Given the description of an element on the screen output the (x, y) to click on. 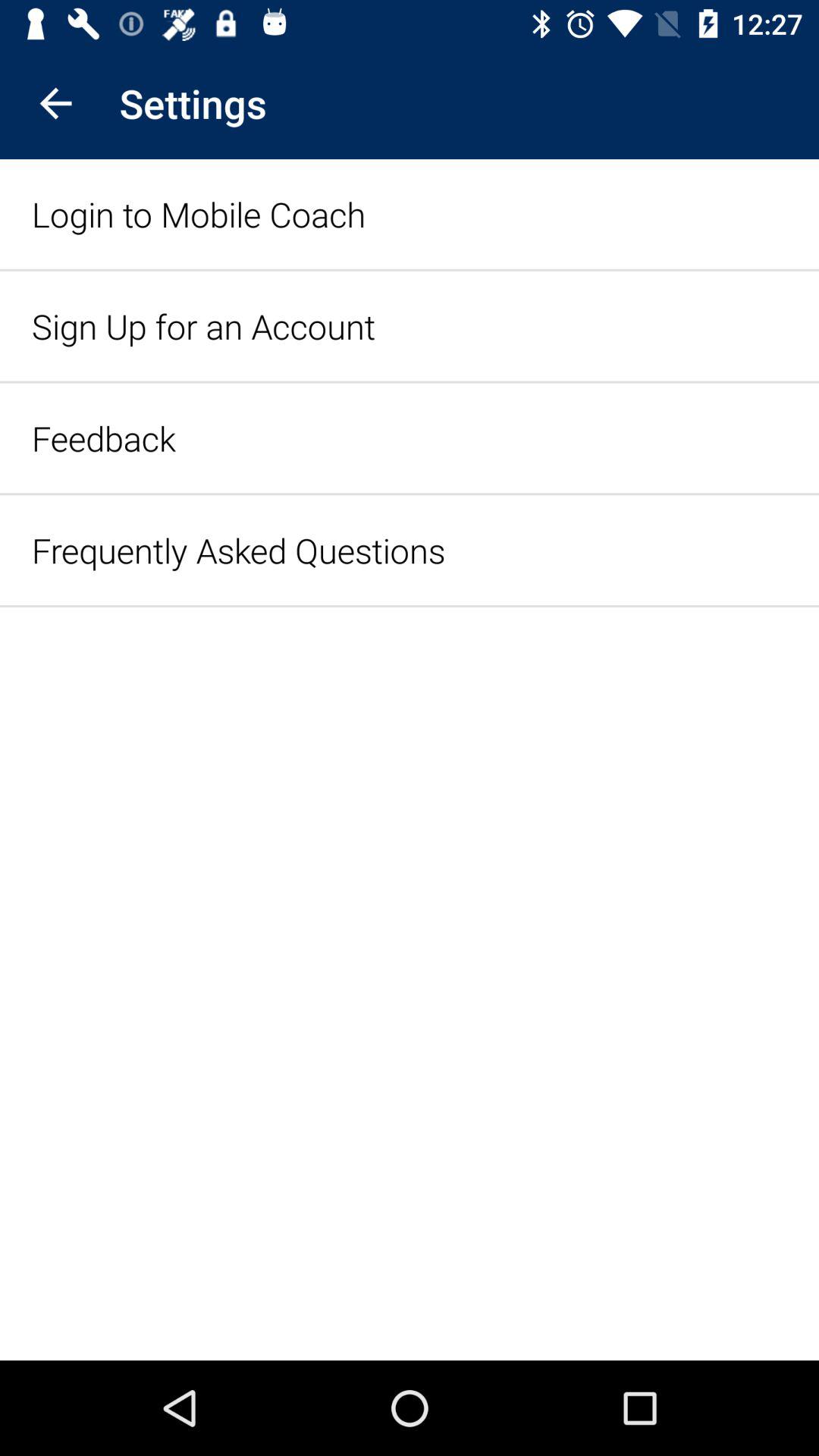
click the sign up for icon (203, 326)
